Given the description of an element on the screen output the (x, y) to click on. 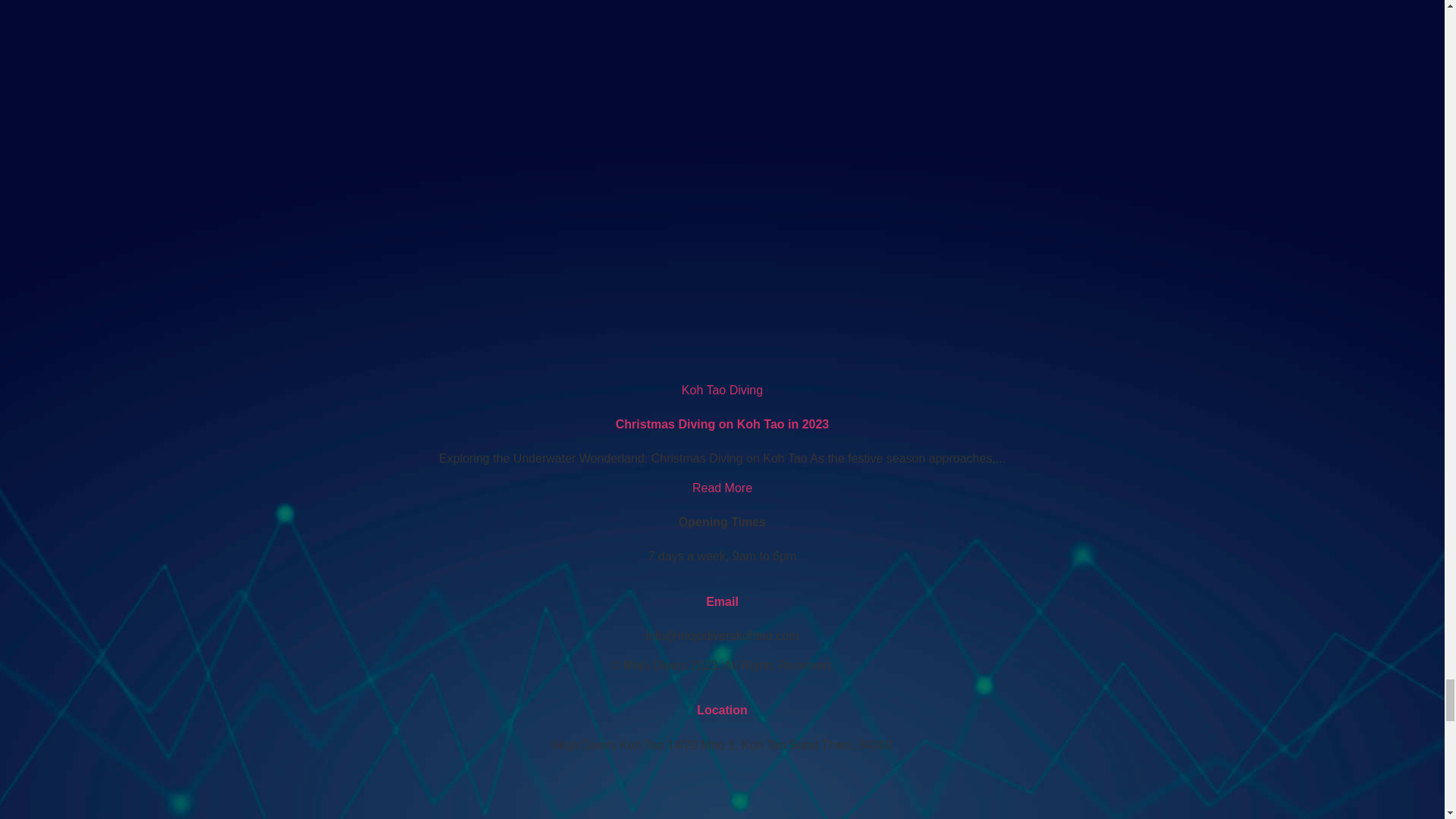
Christmas Diving on Koh Tao in 2023 (722, 487)
